Given the description of an element on the screen output the (x, y) to click on. 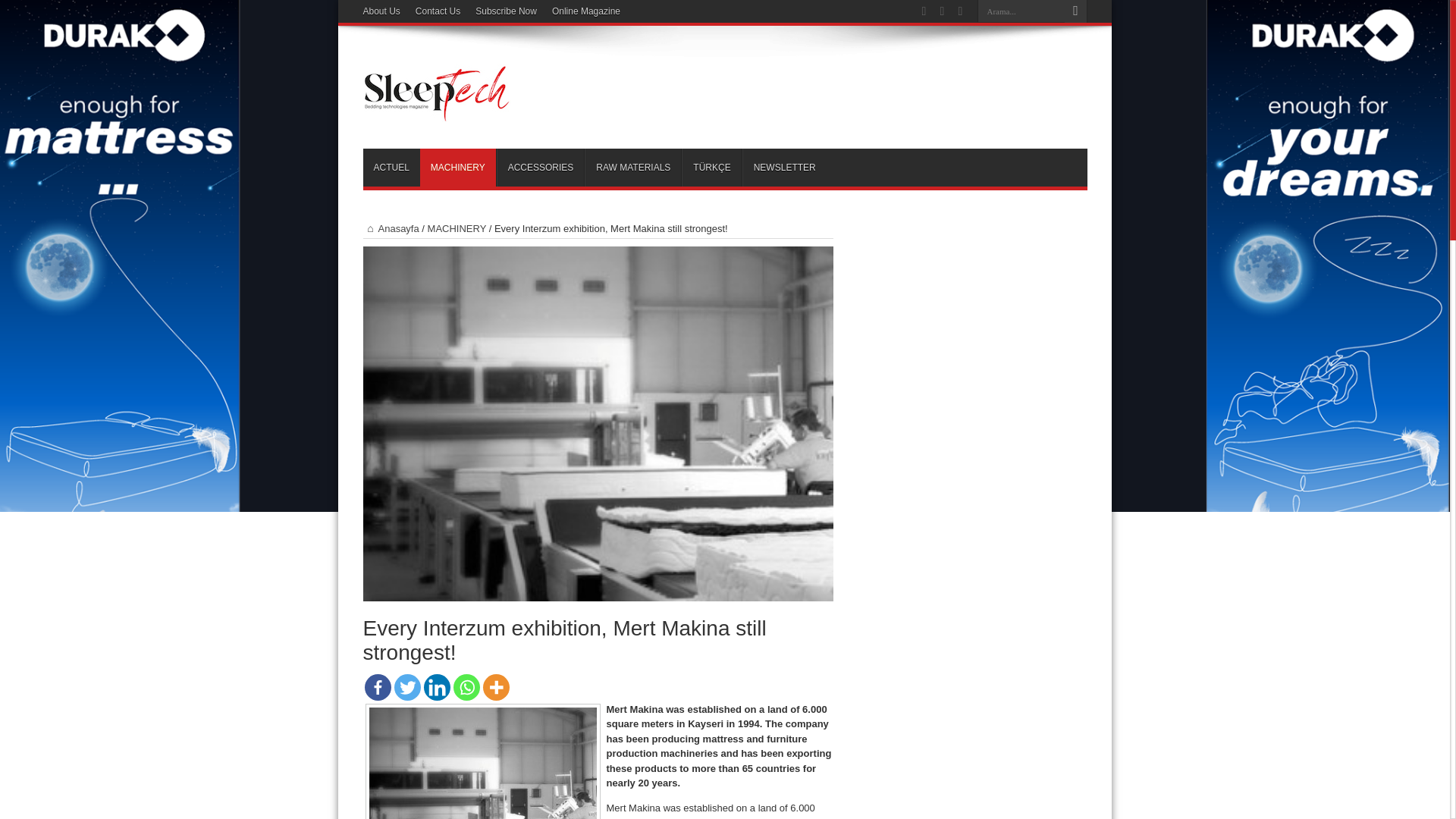
SleepTech Magazine (436, 110)
ACCESSORIES (540, 167)
Subscribe Now (506, 11)
MACHINERY (457, 228)
Arama... (1020, 11)
Contact Us (437, 11)
Twitter (407, 687)
Online Magazine (585, 11)
Linkedin (436, 687)
About Us (380, 11)
